Given the description of an element on the screen output the (x, y) to click on. 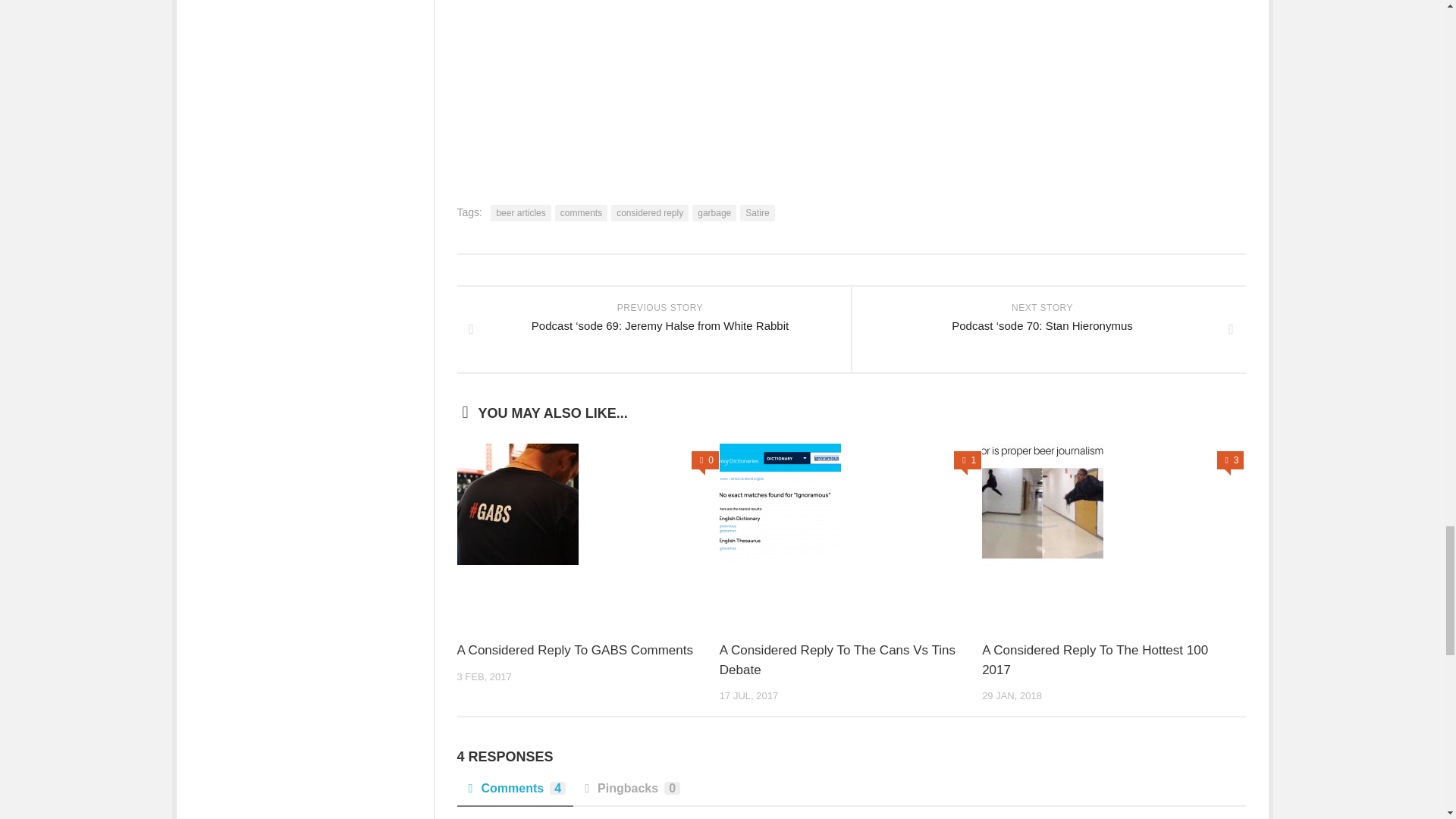
A Considered Reply To GABS Comments (575, 649)
considered reply (649, 212)
garbage (714, 212)
A Considered Reply To The Cans Vs Tins Debate (837, 659)
beer articles (520, 212)
A Considered Reply To The Cans Vs Tins Debate (837, 659)
A Considered Reply To The Hottest 100 2017 (1094, 659)
comments (580, 212)
A Considered Reply To The Cans Vs Tins Debate (850, 504)
0 (705, 460)
A Considered Reply To GABS Comments (575, 649)
A Considered Reply To GABS Comments (587, 504)
A Considered Reply To The Hottest 100 2017 (1112, 504)
1 (967, 460)
Satire (756, 212)
